Given the description of an element on the screen output the (x, y) to click on. 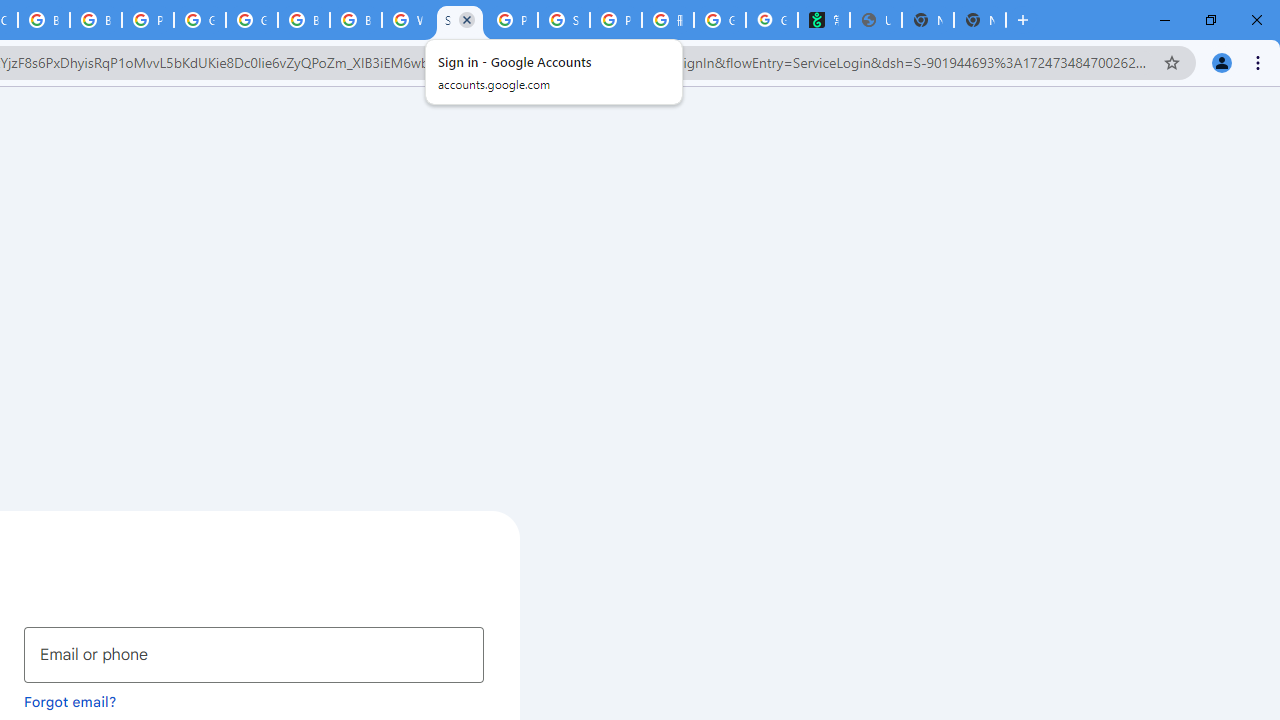
Browse Chrome as a guest - Computer - Google Chrome Help (303, 20)
Forgot email? (70, 701)
Untitled (875, 20)
Google Cloud Platform (200, 20)
